Given the description of an element on the screen output the (x, y) to click on. 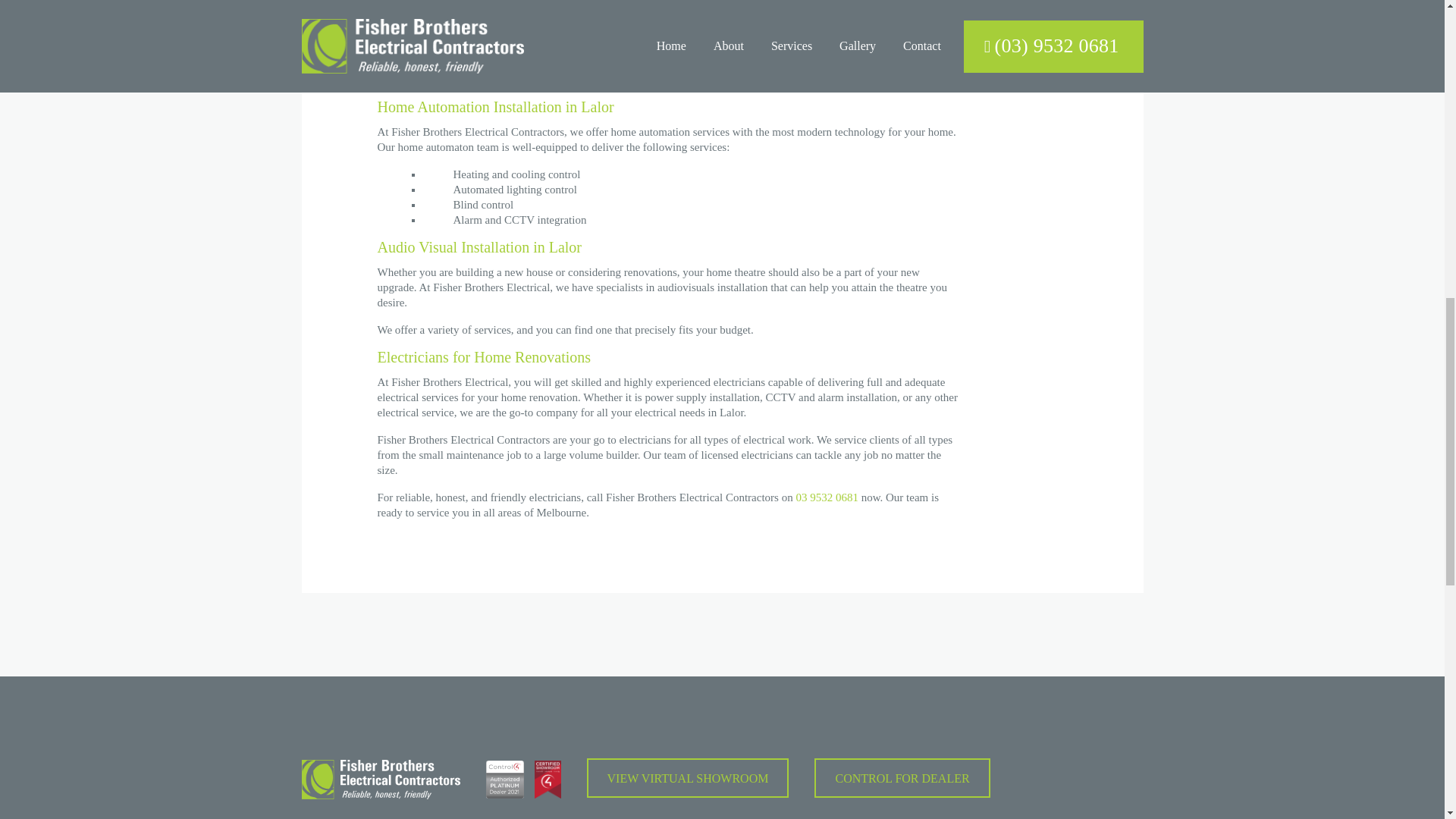
CONTROL FOR DEALER (901, 777)
VIEW VIRTUAL SHOWROOM (687, 777)
03 9532 0681 (826, 497)
